Given the description of an element on the screen output the (x, y) to click on. 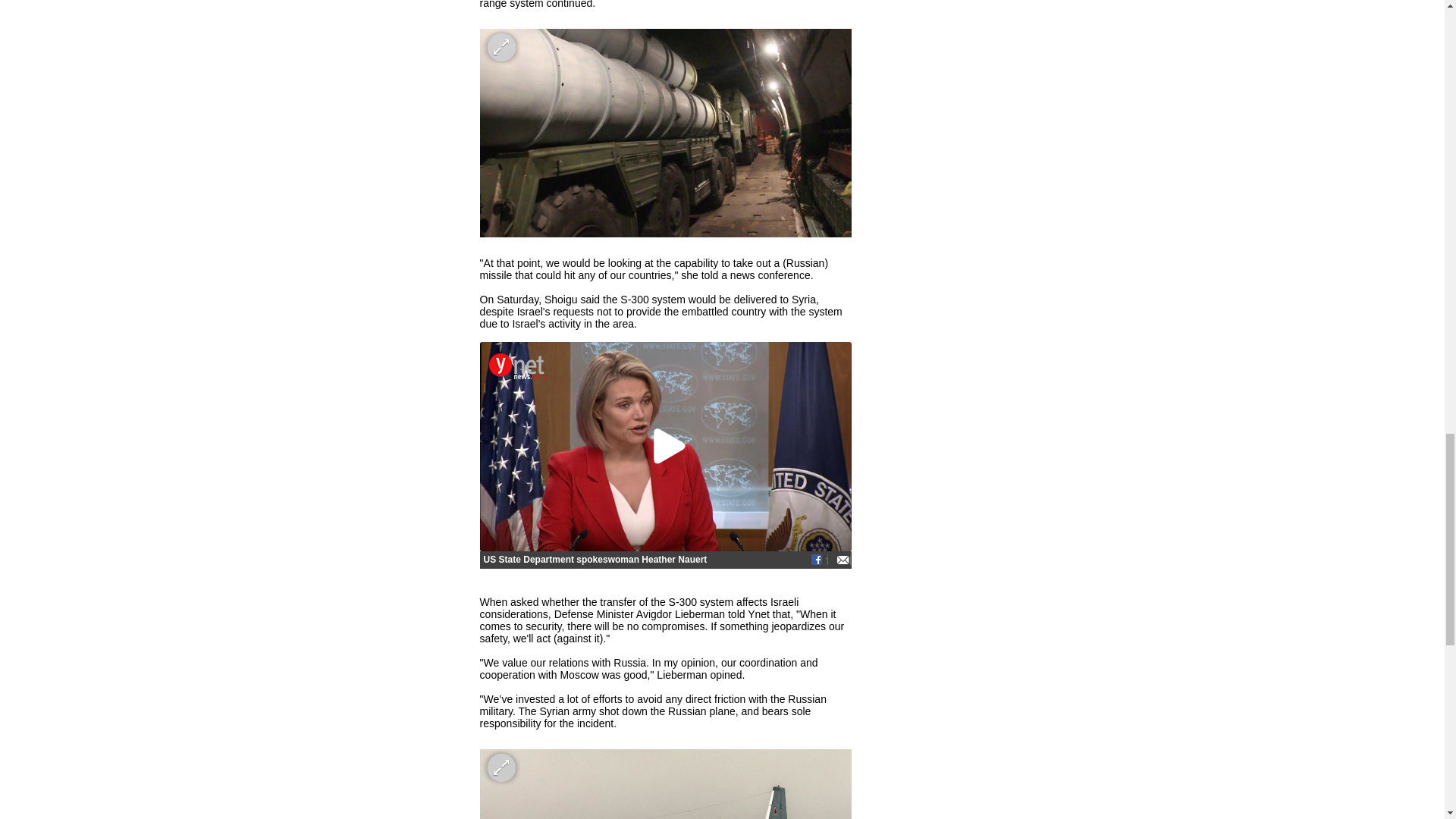
facebook (816, 559)
share (838, 559)
